Given the description of an element on the screen output the (x, y) to click on. 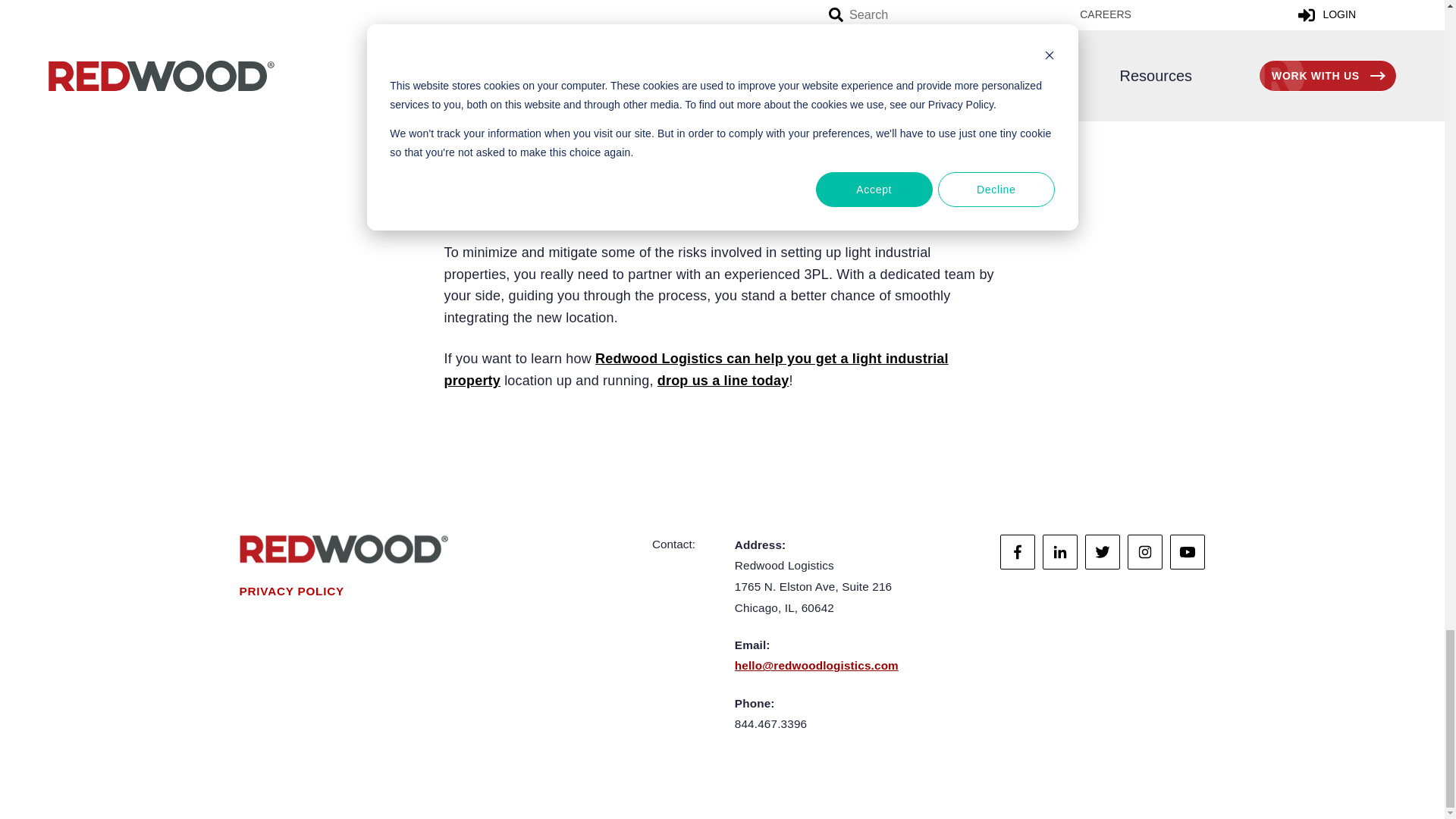
Facebook (1017, 551)
Twitter (1101, 551)
Instagram (1143, 551)
redwood-wordmark-full-color (344, 548)
Linkedin (1059, 551)
YouTube (1187, 551)
